Given the description of an element on the screen output the (x, y) to click on. 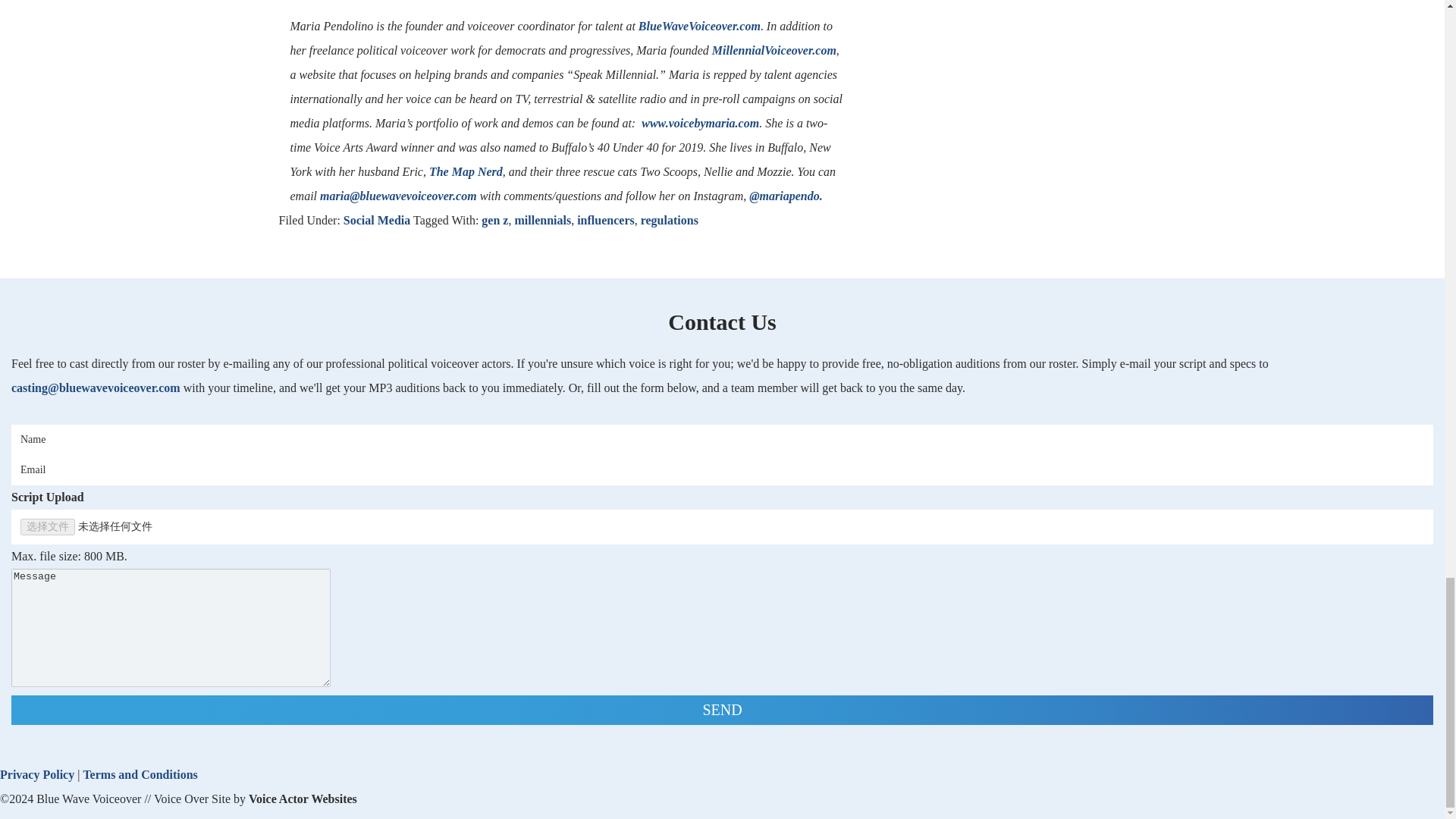
SEND (721, 709)
